Given the description of an element on the screen output the (x, y) to click on. 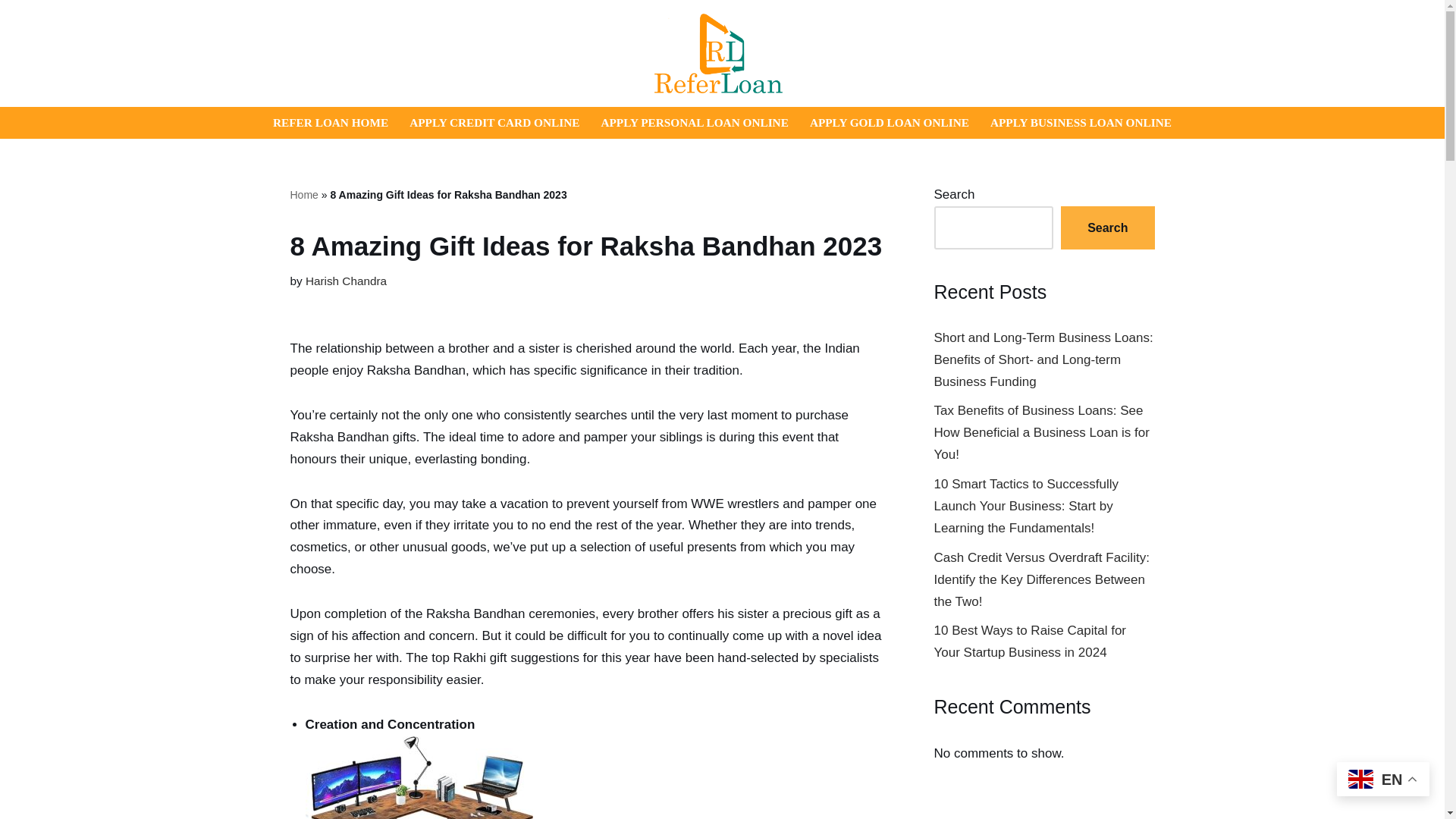
APPLY CREDIT CARD ONLINE (494, 122)
Skip to content (11, 31)
REFER LOAN HOME (330, 122)
APPLY BUSINESS LOAN ONLINE (1081, 122)
APPLY PERSONAL LOAN ONLINE (693, 122)
Harish Chandra (346, 280)
Posts by Harish Chandra (346, 280)
APPLY GOLD LOAN ONLINE (889, 122)
Search (1107, 228)
Home (303, 194)
